Given the description of an element on the screen output the (x, y) to click on. 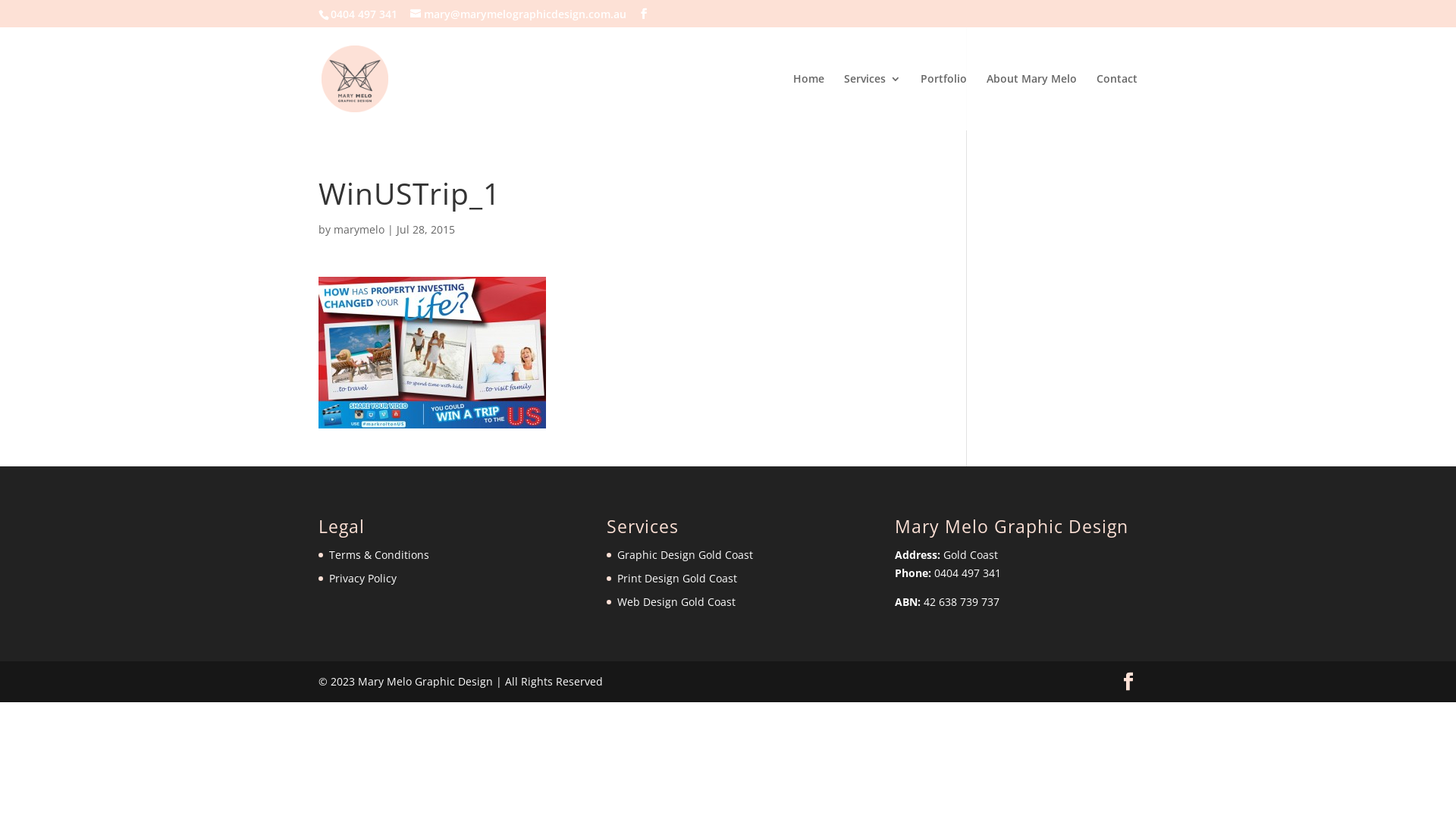
marymelo Element type: text (358, 229)
Print Design Gold Coast Element type: text (677, 578)
mary@marymelographicdesign.com.au Element type: text (518, 13)
Privacy Policy Element type: text (362, 578)
Terms & Conditions Element type: text (379, 554)
Portfolio Element type: text (943, 101)
Home Element type: text (808, 101)
Services Element type: text (872, 101)
Web Design Gold Coast Element type: text (676, 601)
About Mary Melo Element type: text (1031, 101)
Graphic Design Gold Coast Element type: text (685, 554)
Contact Element type: text (1116, 101)
